Given the description of an element on the screen output the (x, y) to click on. 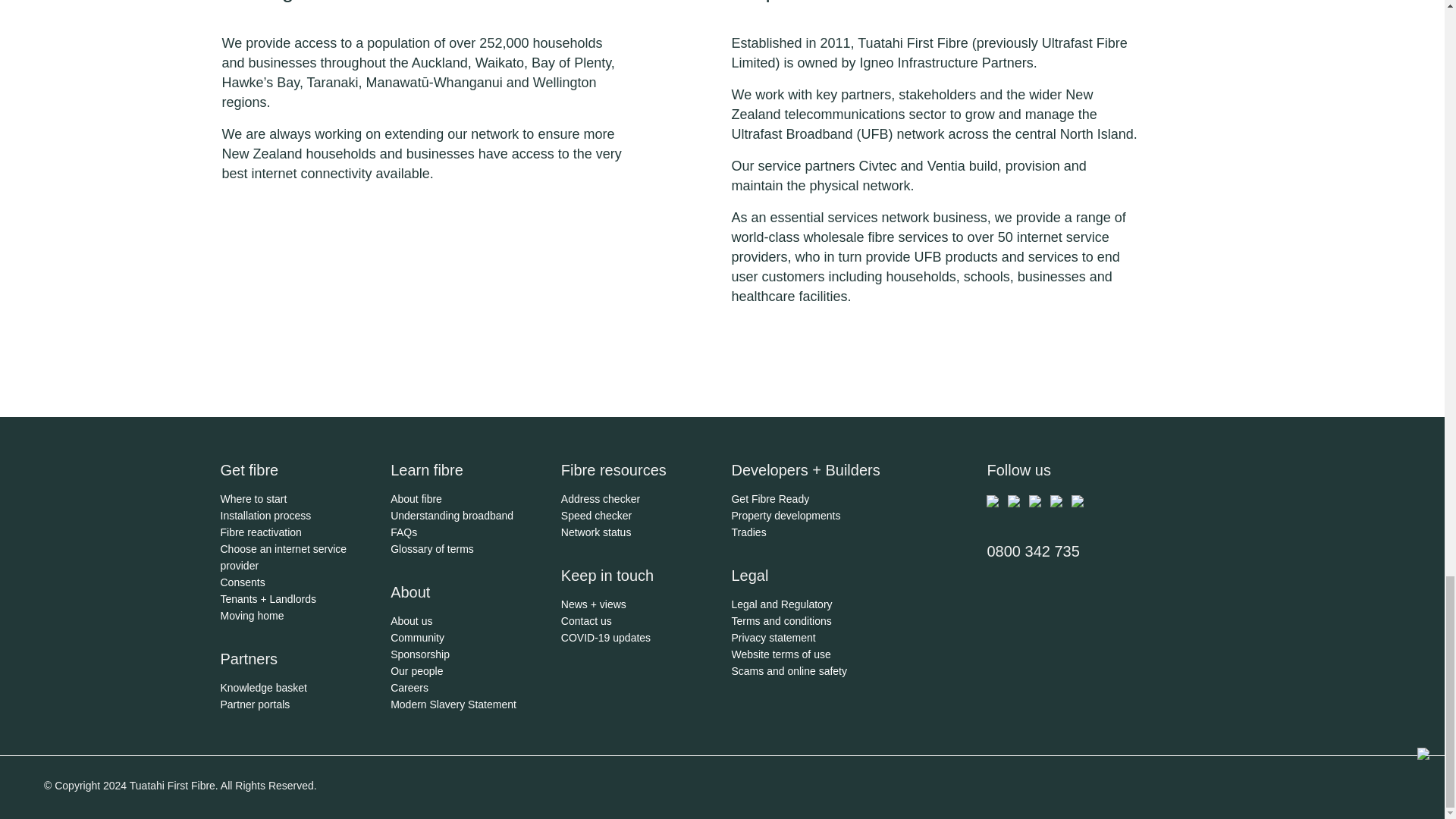
Our people (416, 670)
Installation process (265, 515)
Partner portals (254, 703)
Careers (409, 686)
Understanding broadband (451, 515)
Address checker (600, 499)
FAQs (403, 532)
Privacy statement (772, 636)
Legal and Regulatory (780, 603)
COVID-19 updates (605, 636)
